Given the description of an element on the screen output the (x, y) to click on. 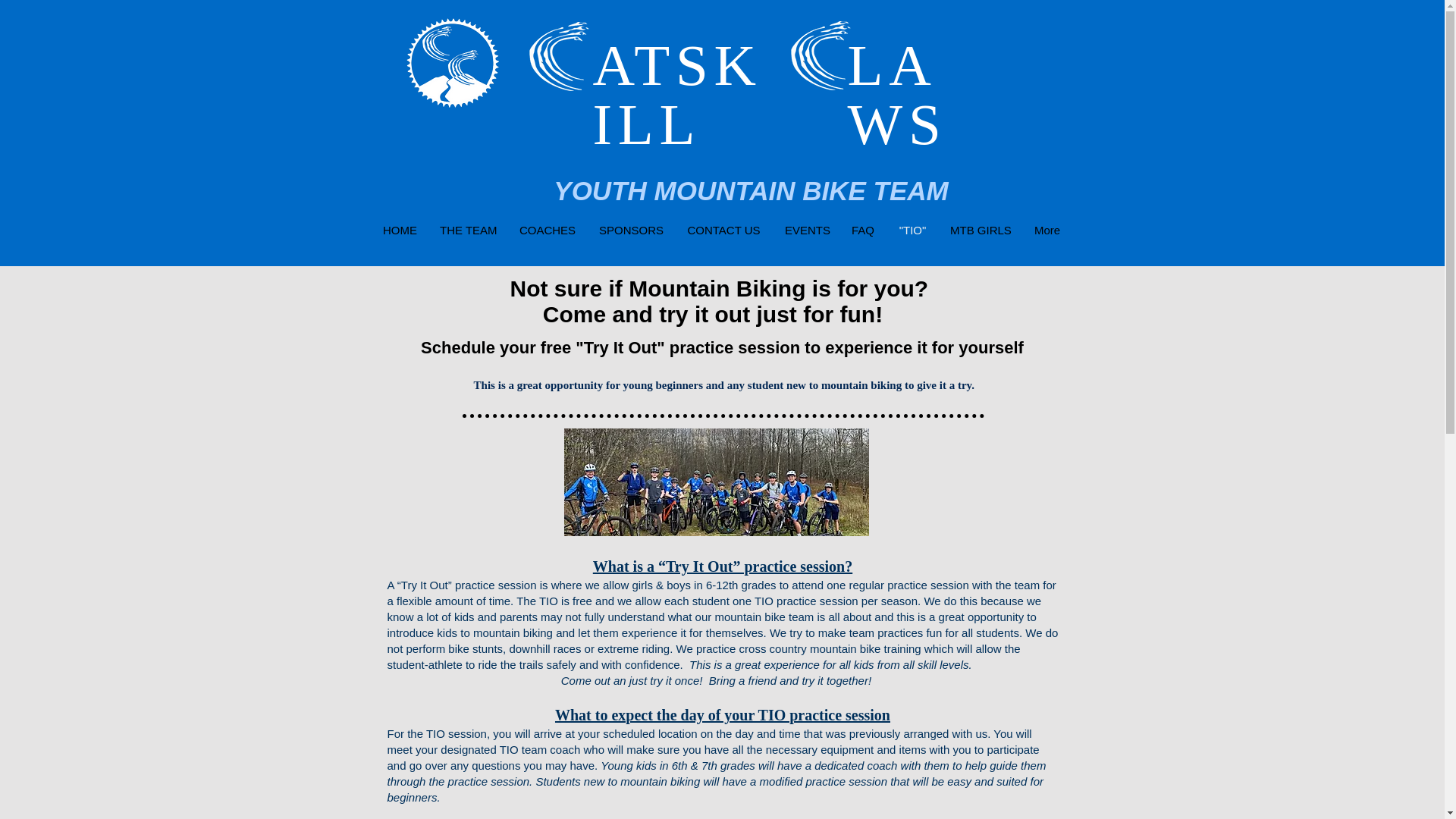
FAQ (863, 230)
MTB GIRLS (979, 230)
HOME (399, 230)
"TIO" (912, 230)
THE TEAM (467, 230)
SPONSORS (631, 230)
EVENTS (806, 230)
COACHES (547, 230)
CONTACT US (723, 230)
